Given the description of an element on the screen output the (x, y) to click on. 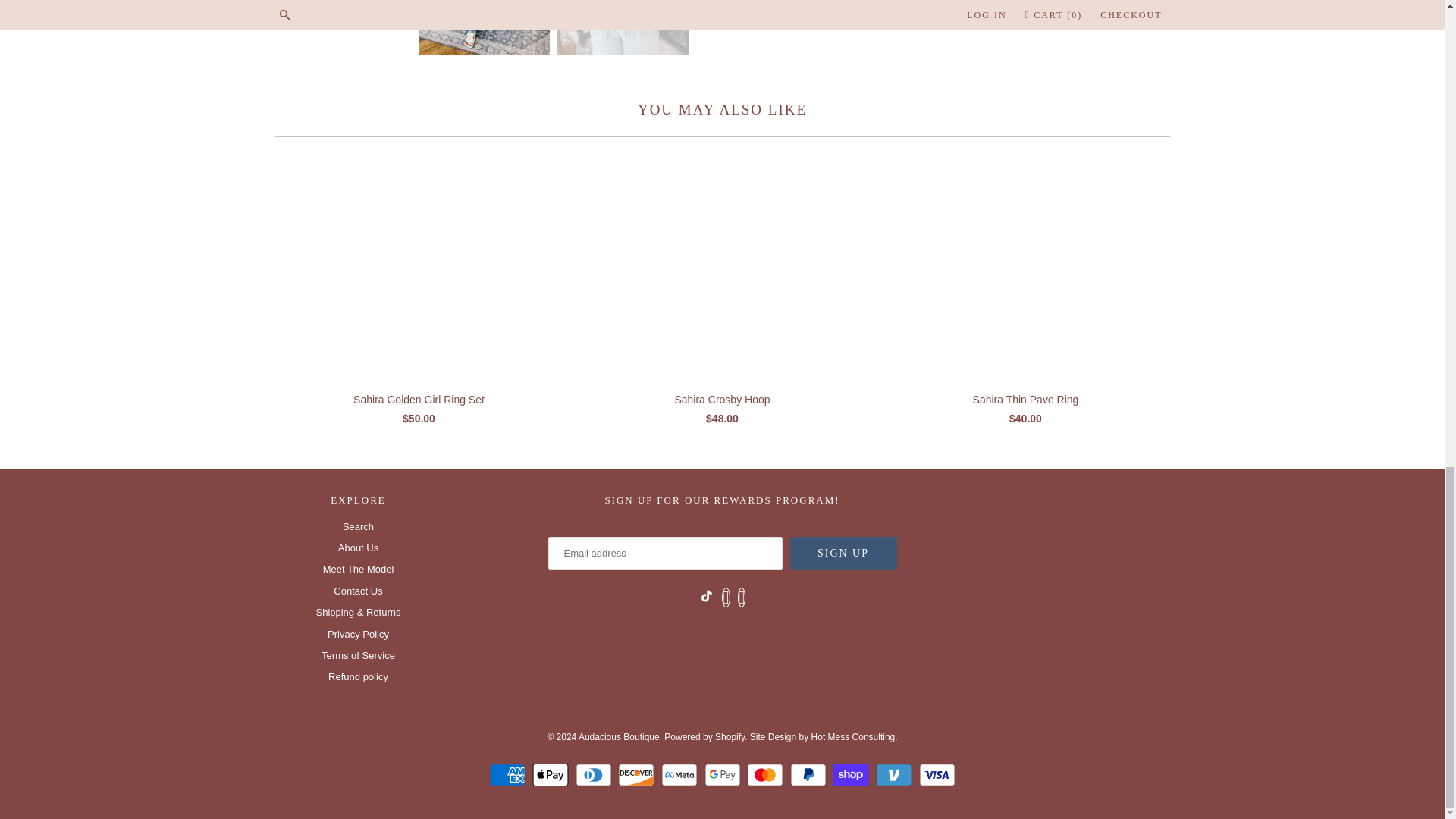
Venmo (895, 774)
American Express (509, 774)
Sign Up (843, 553)
Apple Pay (552, 774)
Visa (936, 774)
Shop Pay (852, 774)
Diners Club (595, 774)
Discover (637, 774)
Google Pay (723, 774)
Meta Pay (681, 774)
